Given the description of an element on the screen output the (x, y) to click on. 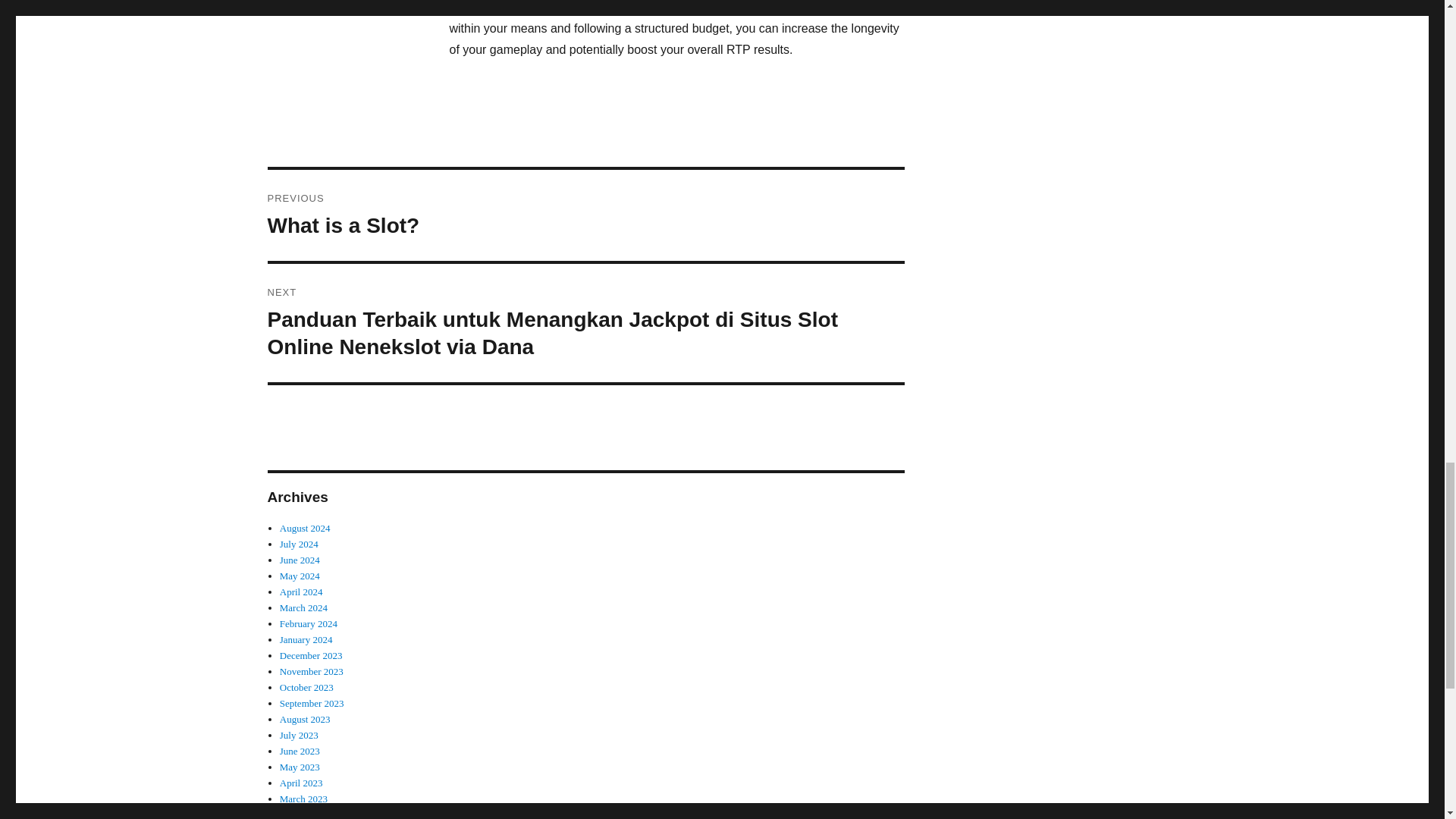
May 2024 (299, 575)
March 2023 (303, 798)
July 2023 (298, 735)
January 2024 (306, 639)
March 2024 (303, 607)
August 2023 (304, 718)
November 2023 (311, 671)
June 2024 (299, 559)
May 2023 (299, 767)
April 2023 (301, 782)
